Given the description of an element on the screen output the (x, y) to click on. 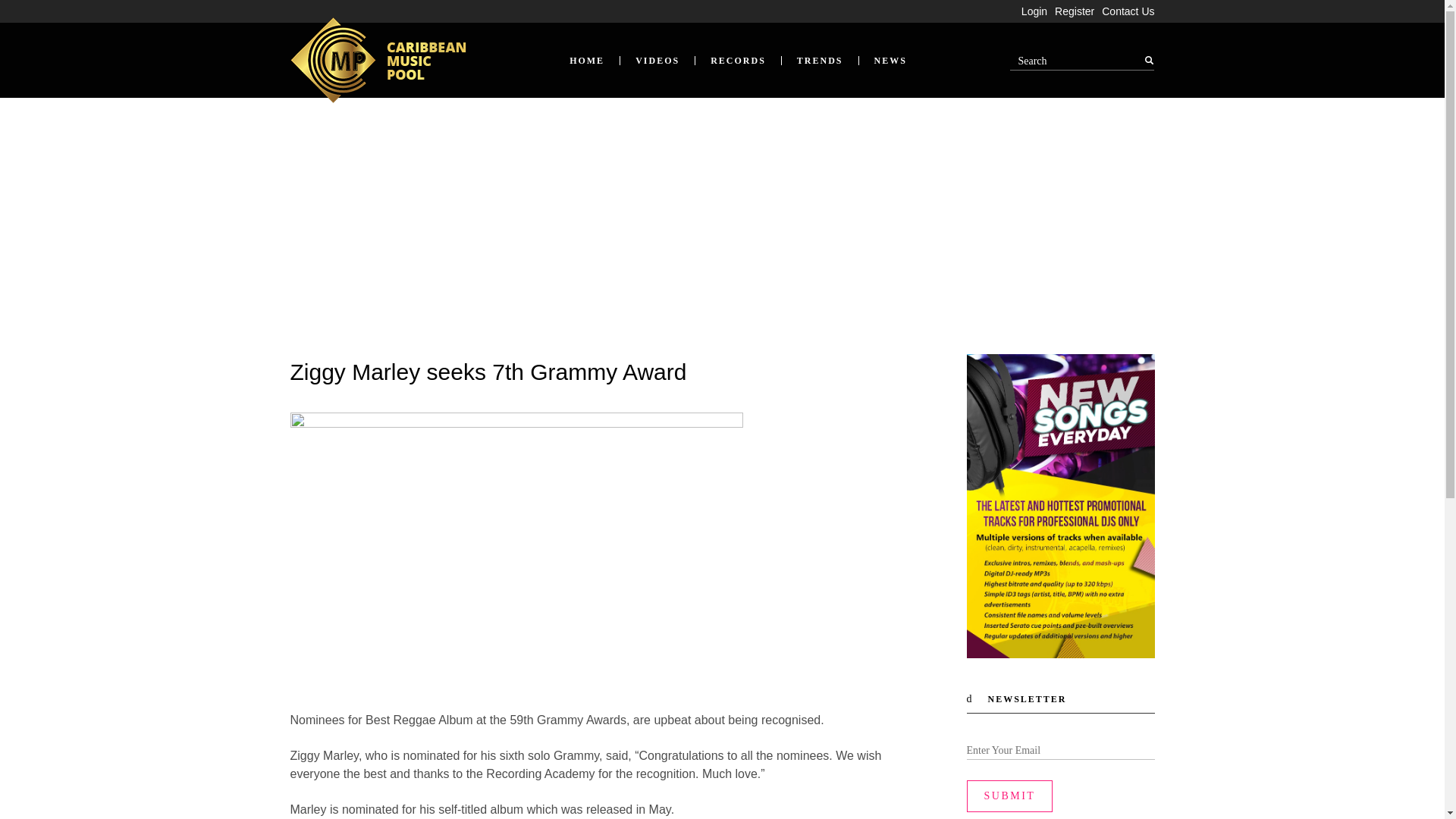
Submit (1009, 796)
Login (1034, 11)
VIDEOS (656, 60)
NEWS (891, 60)
Register (1074, 11)
Contact Us (1128, 11)
TRENDS (819, 60)
HOME (586, 60)
RECORDS (737, 60)
Submit (1009, 796)
